Given the description of an element on the screen output the (x, y) to click on. 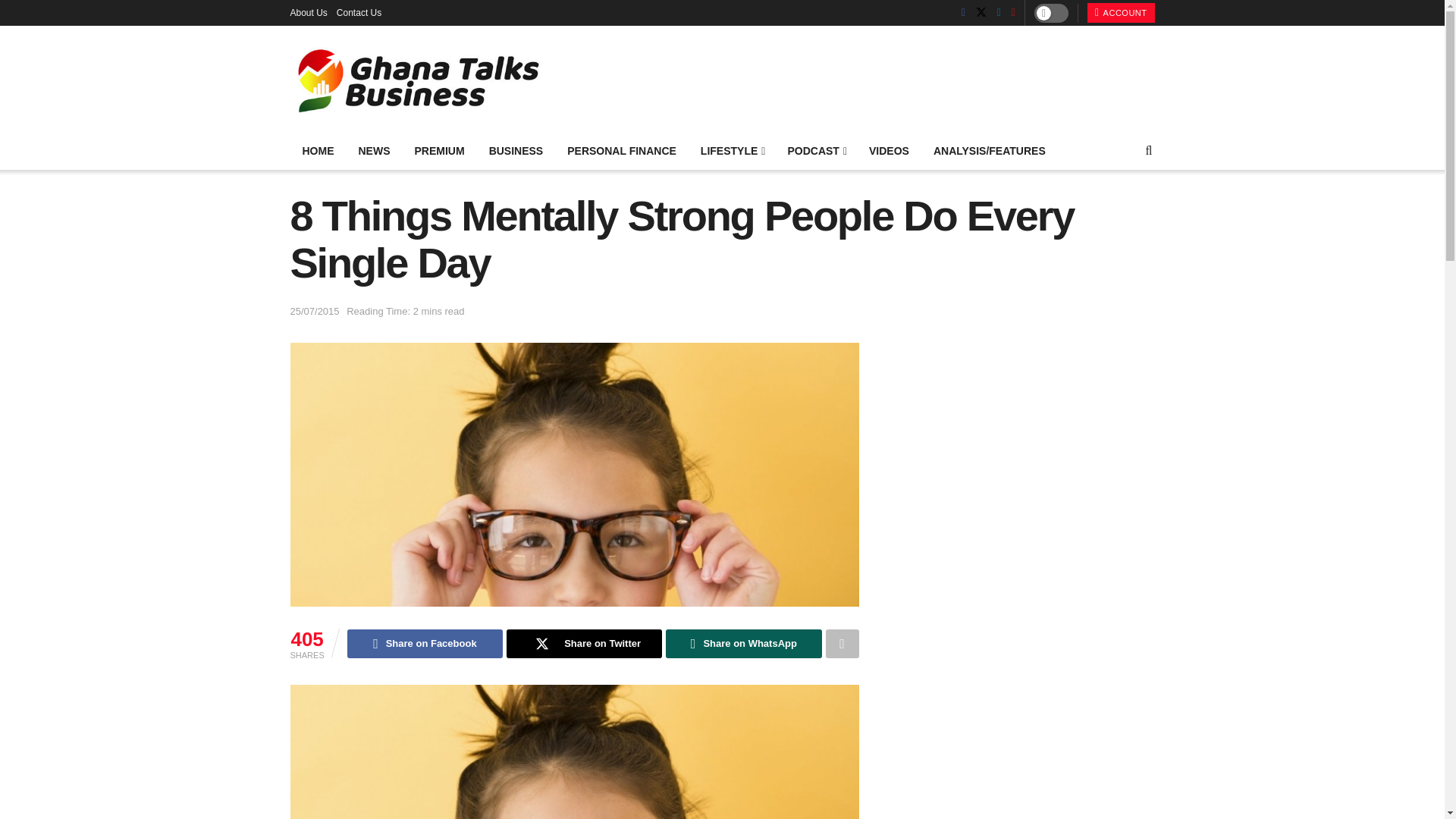
BUSINESS (516, 150)
PODCAST (815, 150)
VIDEOS (889, 150)
ACCOUNT (1120, 12)
NEWS (373, 150)
PERSONAL FINANCE (621, 150)
Contact Us (358, 12)
LIFESTYLE (732, 150)
PREMIUM (438, 150)
About Us (307, 12)
